Given the description of an element on the screen output the (x, y) to click on. 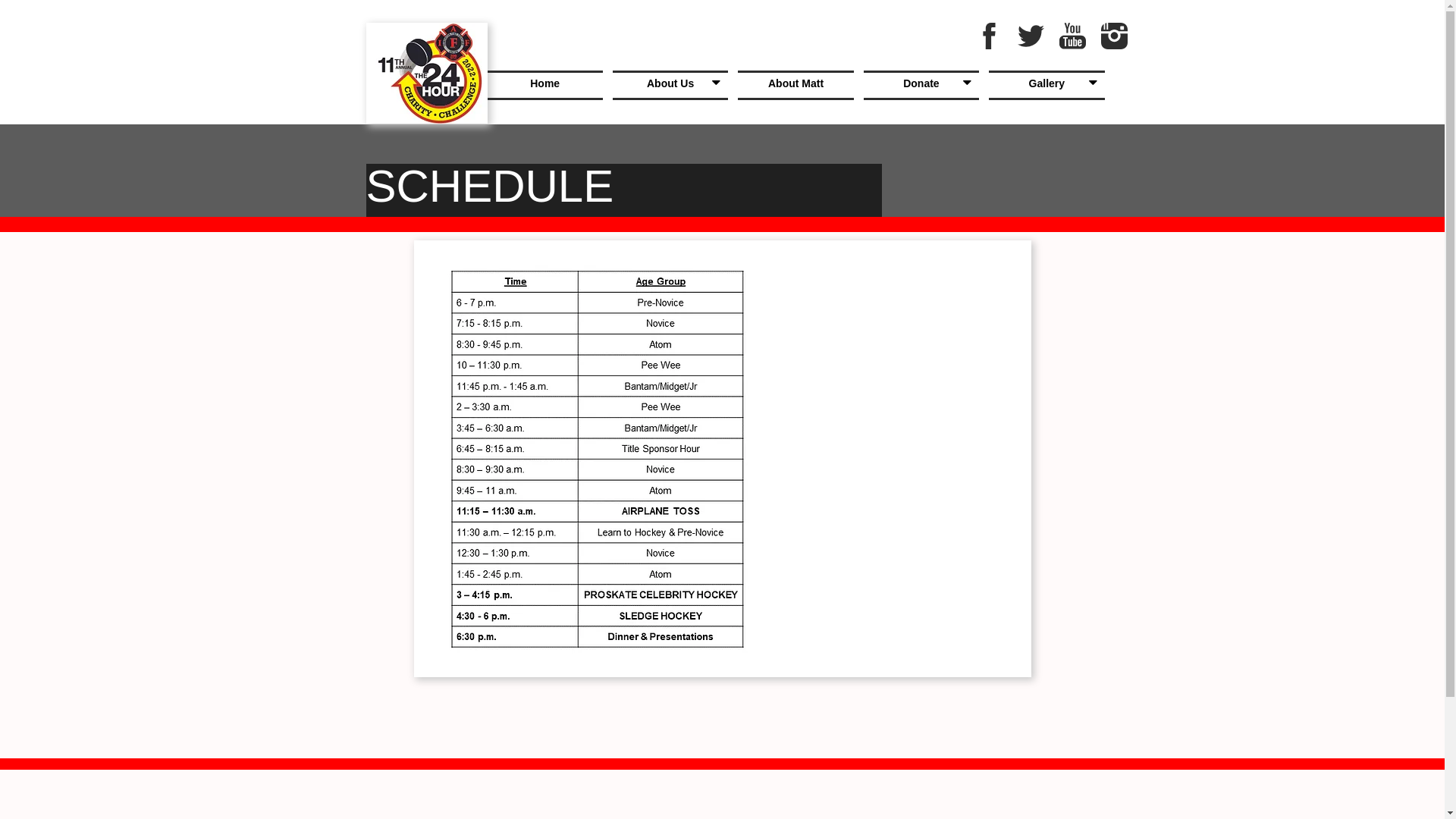
About Matt Element type: text (795, 84)
Donate Element type: text (921, 84)
Gallery Element type: text (1046, 84)
Home Element type: text (544, 84)
About Us Element type: text (670, 84)
